Given the description of an element on the screen output the (x, y) to click on. 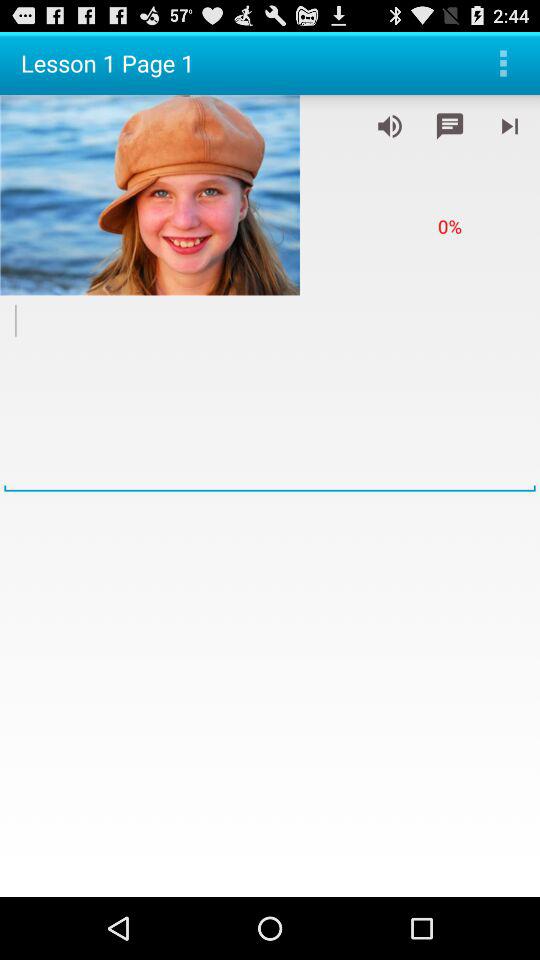
send message (450, 125)
